Given the description of an element on the screen output the (x, y) to click on. 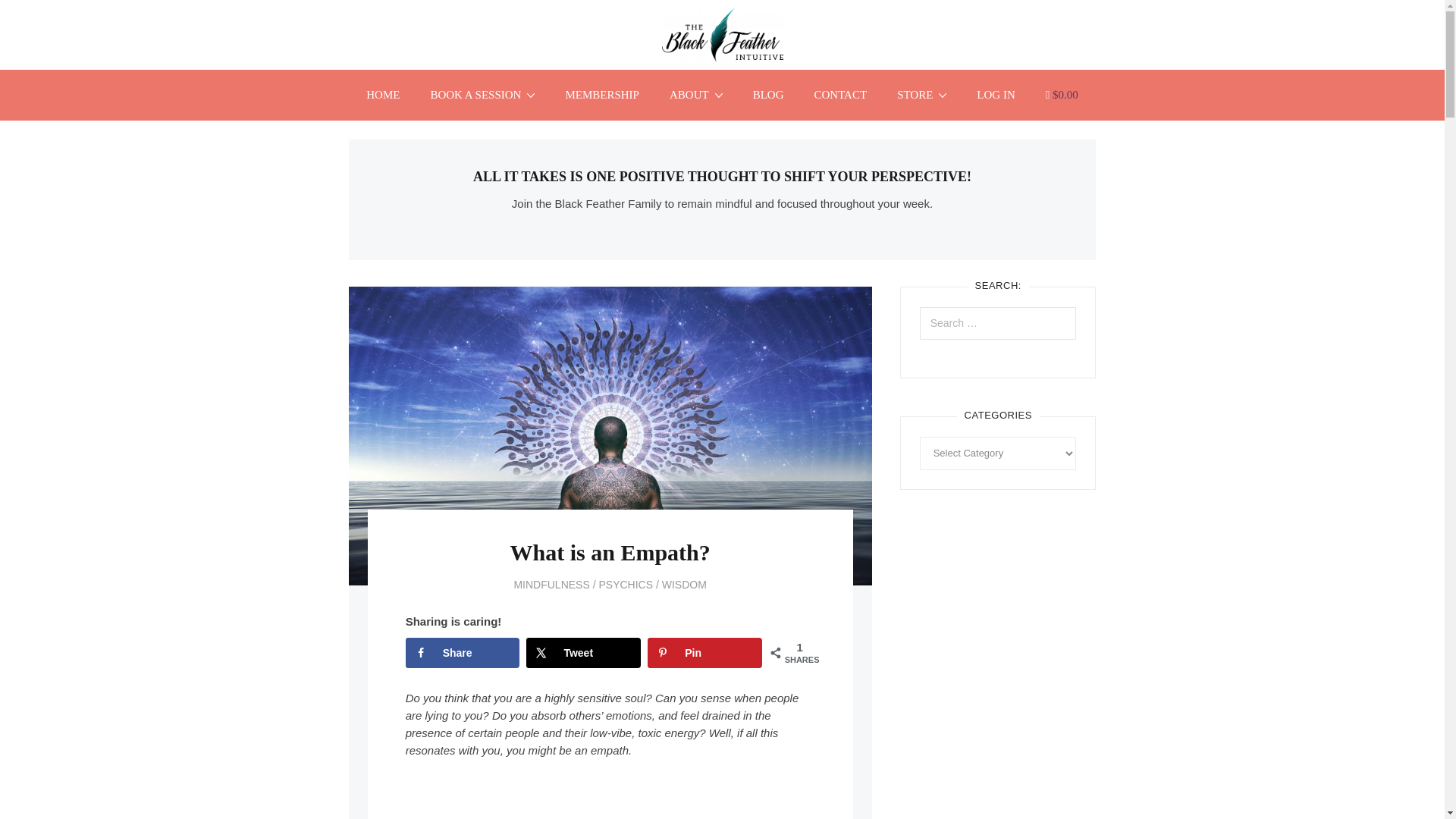
Tweet (582, 653)
MEMBERSHIP (601, 94)
CONTACT (839, 94)
BLOG (768, 94)
Share (462, 653)
WISDOM (684, 584)
LOG IN (994, 94)
ABOUT (695, 94)
Share on X (582, 653)
Save to Pinterest (704, 653)
Share on Facebook (462, 653)
MINDFULNESS (551, 584)
HOME (382, 94)
STORE (921, 94)
Pin (704, 653)
